Given the description of an element on the screen output the (x, y) to click on. 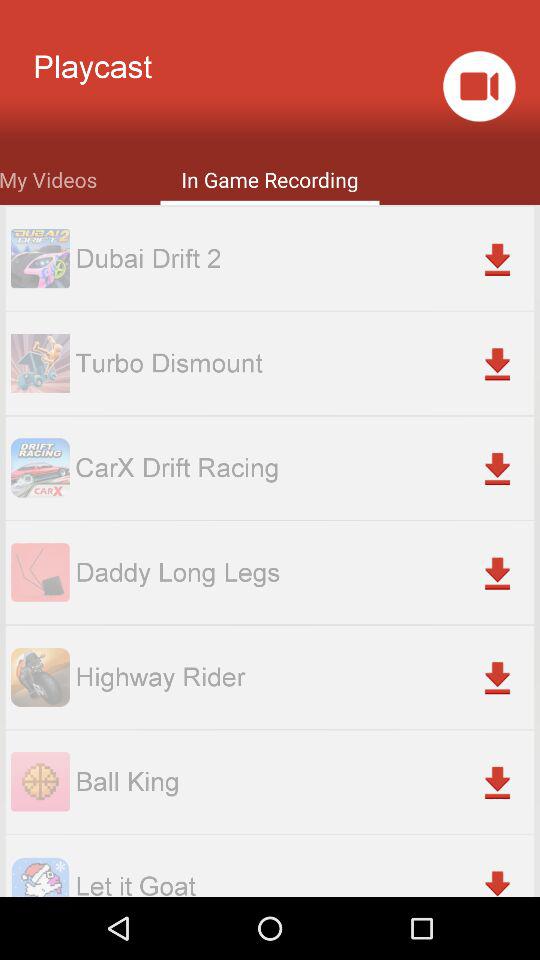
launch icon to the left of the in game recording app (48, 178)
